Given the description of an element on the screen output the (x, y) to click on. 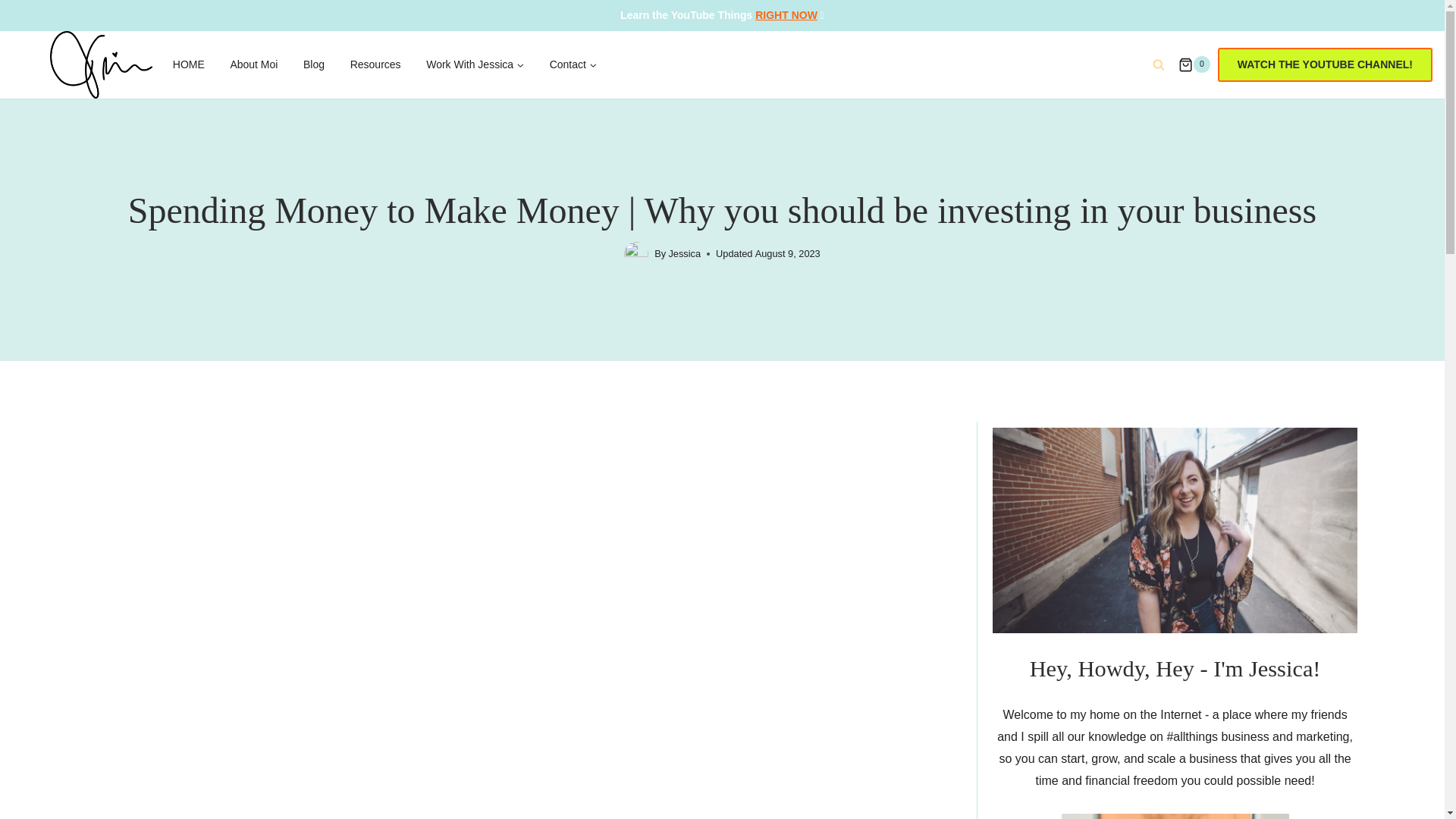
HOME (188, 64)
WATCH THE YOUTUBE CHANNEL! (1324, 64)
Work With Jessica (474, 64)
Blog (313, 64)
Contact (573, 64)
0 (1193, 64)
About Moi (253, 64)
RIGHT NOW (785, 15)
Resources (375, 64)
Jessica (684, 253)
